Given the description of an element on the screen output the (x, y) to click on. 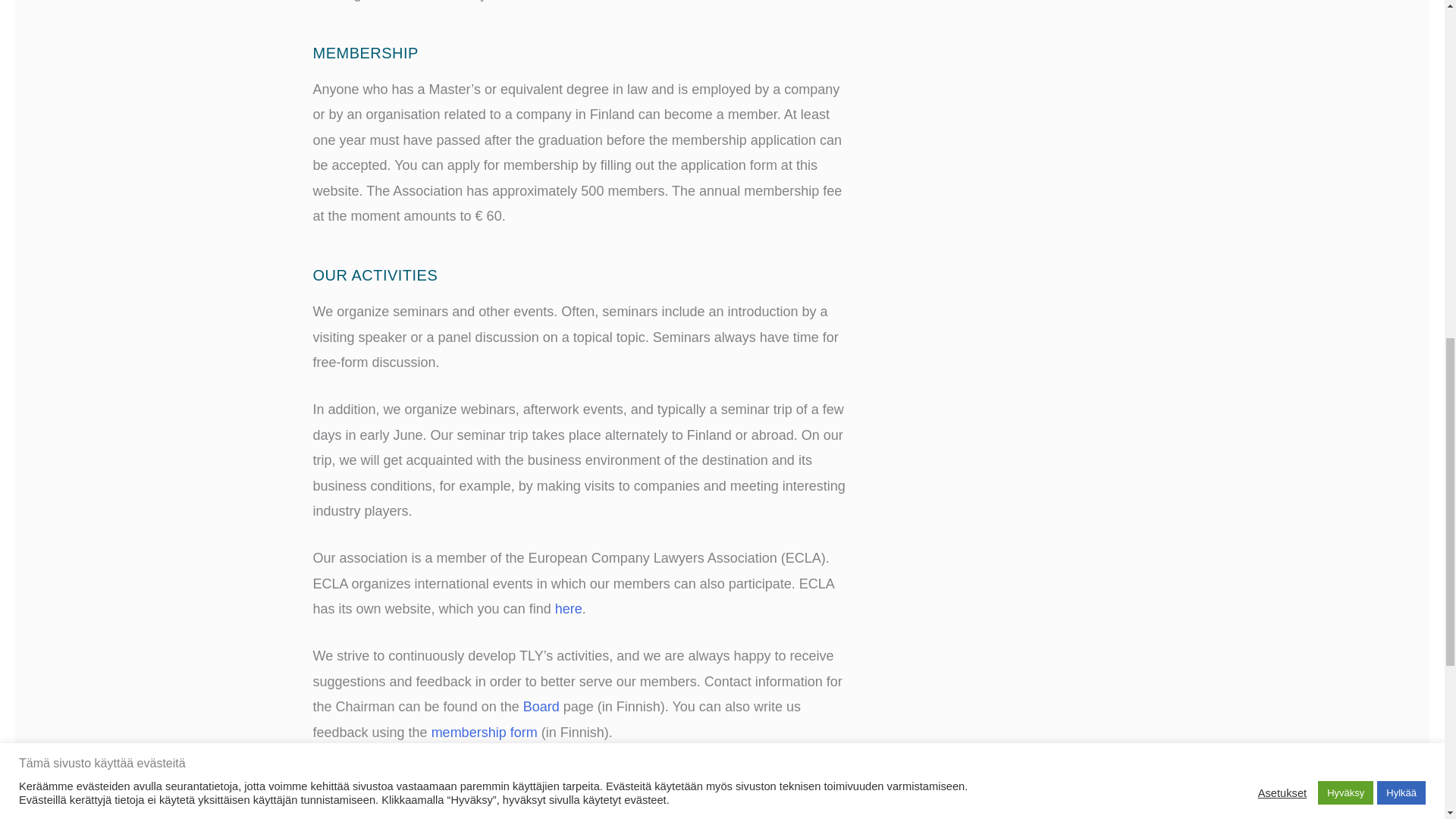
membership form (483, 732)
Board (540, 706)
here (568, 608)
